Given the description of an element on the screen output the (x, y) to click on. 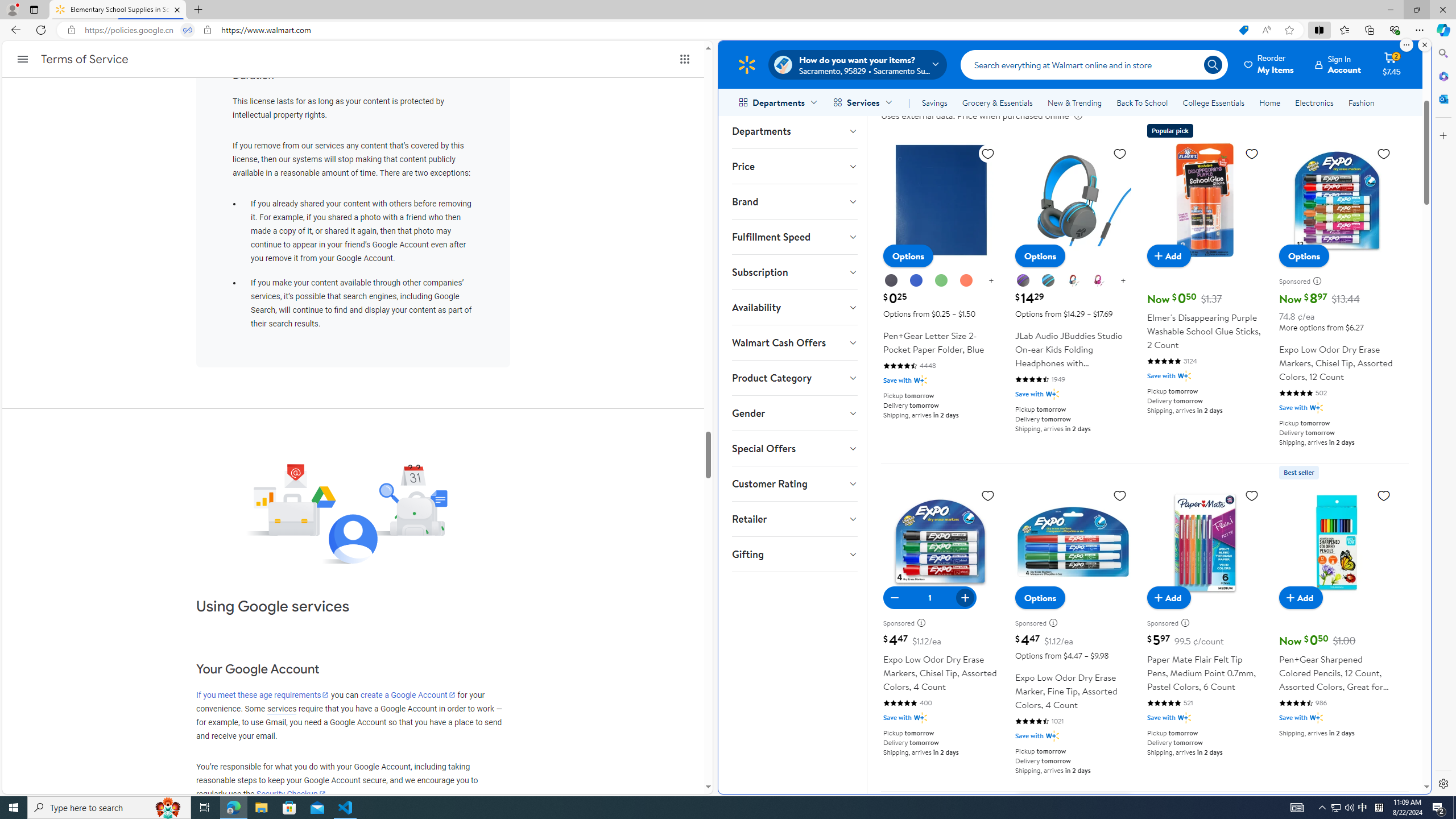
Read aloud this page (Ctrl+Shift+U) (1266, 29)
View site information (207, 29)
Tab actions menu (33, 9)
Multicolor (1072, 280)
Cart contains 2 items Total Amount $7.45 (1391, 64)
Special Offers (794, 448)
Brand (794, 201)
Fashion (1361, 102)
This site has coupons! Shopping in Microsoft Edge, 7 (1243, 29)
